Given the description of an element on the screen output the (x, y) to click on. 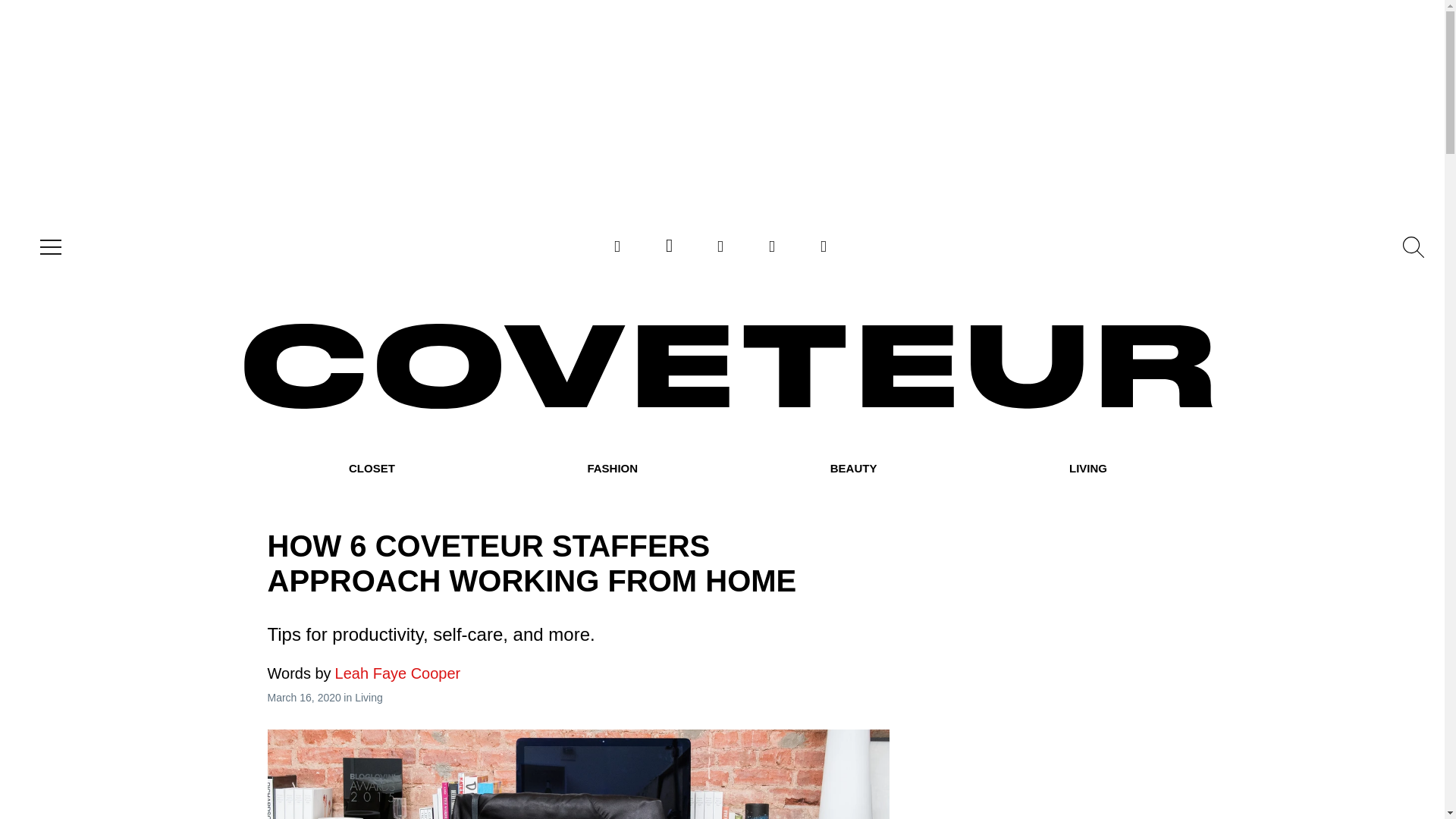
BEAUTY (853, 468)
Leah Faye Cooper (363, 673)
Living (368, 697)
LIVING (1087, 468)
FASHION (611, 468)
CLOSET (371, 468)
menu (47, 246)
